Given the description of an element on the screen output the (x, y) to click on. 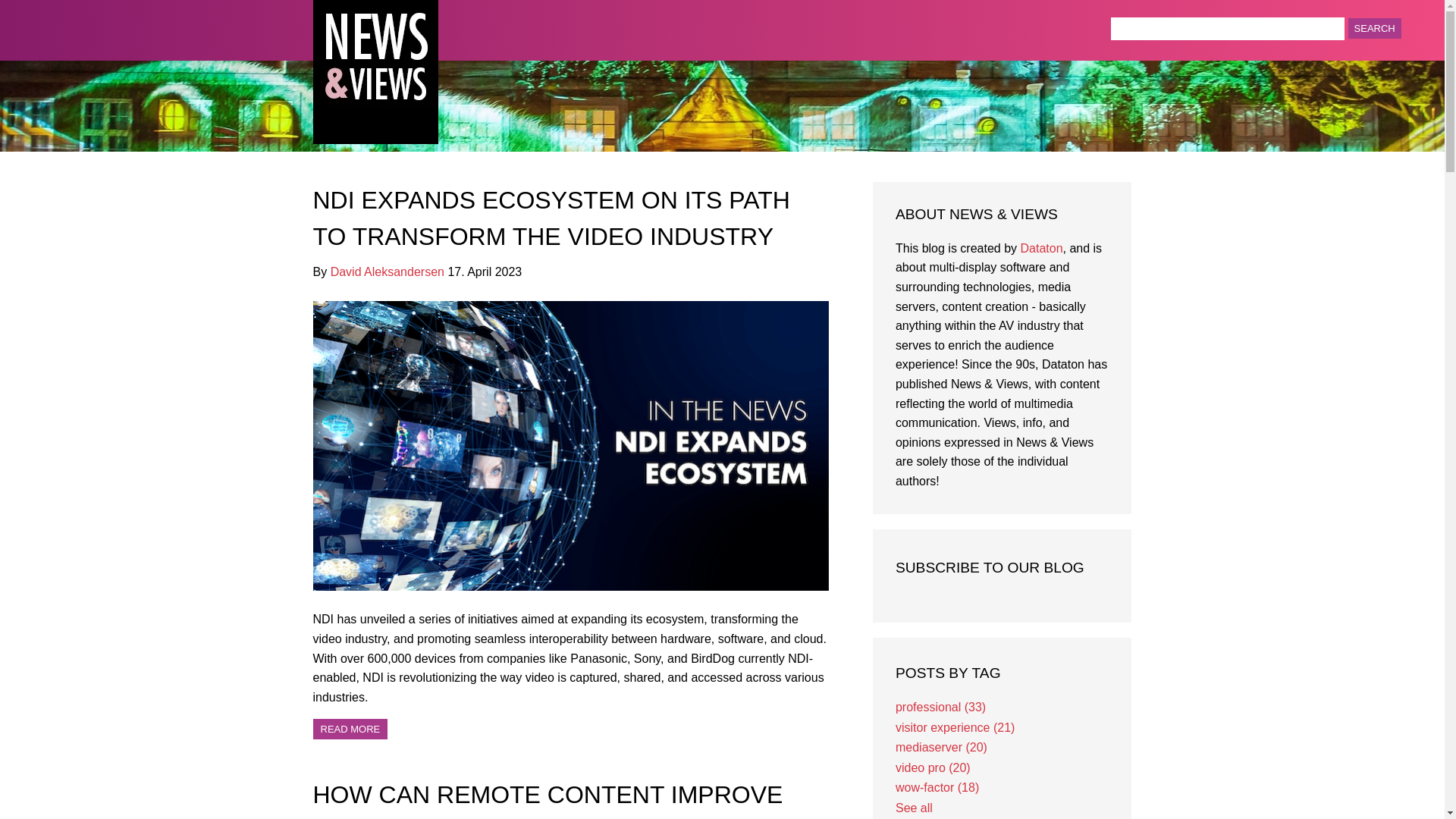
SEARCH (1374, 28)
David Aleksandersen (387, 271)
READ MORE (350, 729)
